Given the description of an element on the screen output the (x, y) to click on. 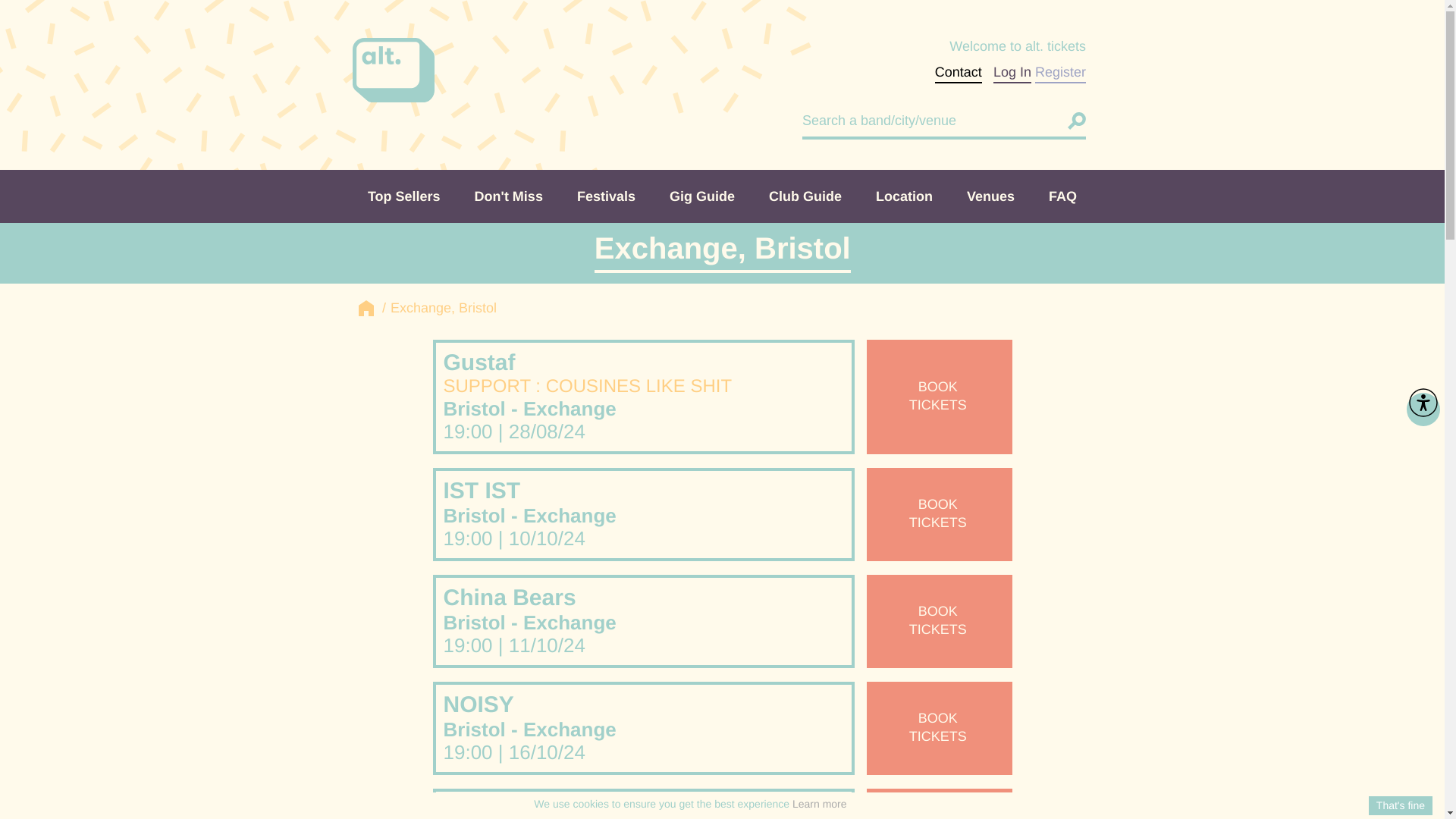
Gig Guide (701, 195)
FAQ (938, 803)
Venues (1062, 195)
Gig Guide (990, 195)
FAQ (701, 195)
Accessibility Menu (1062, 195)
Club Guide (1422, 409)
Don't Miss (805, 195)
Exchange, Bristol (508, 195)
Top Sellers (438, 307)
Don't Miss (403, 195)
Club Guide (508, 195)
Festivals (805, 195)
